Given the description of an element on the screen output the (x, y) to click on. 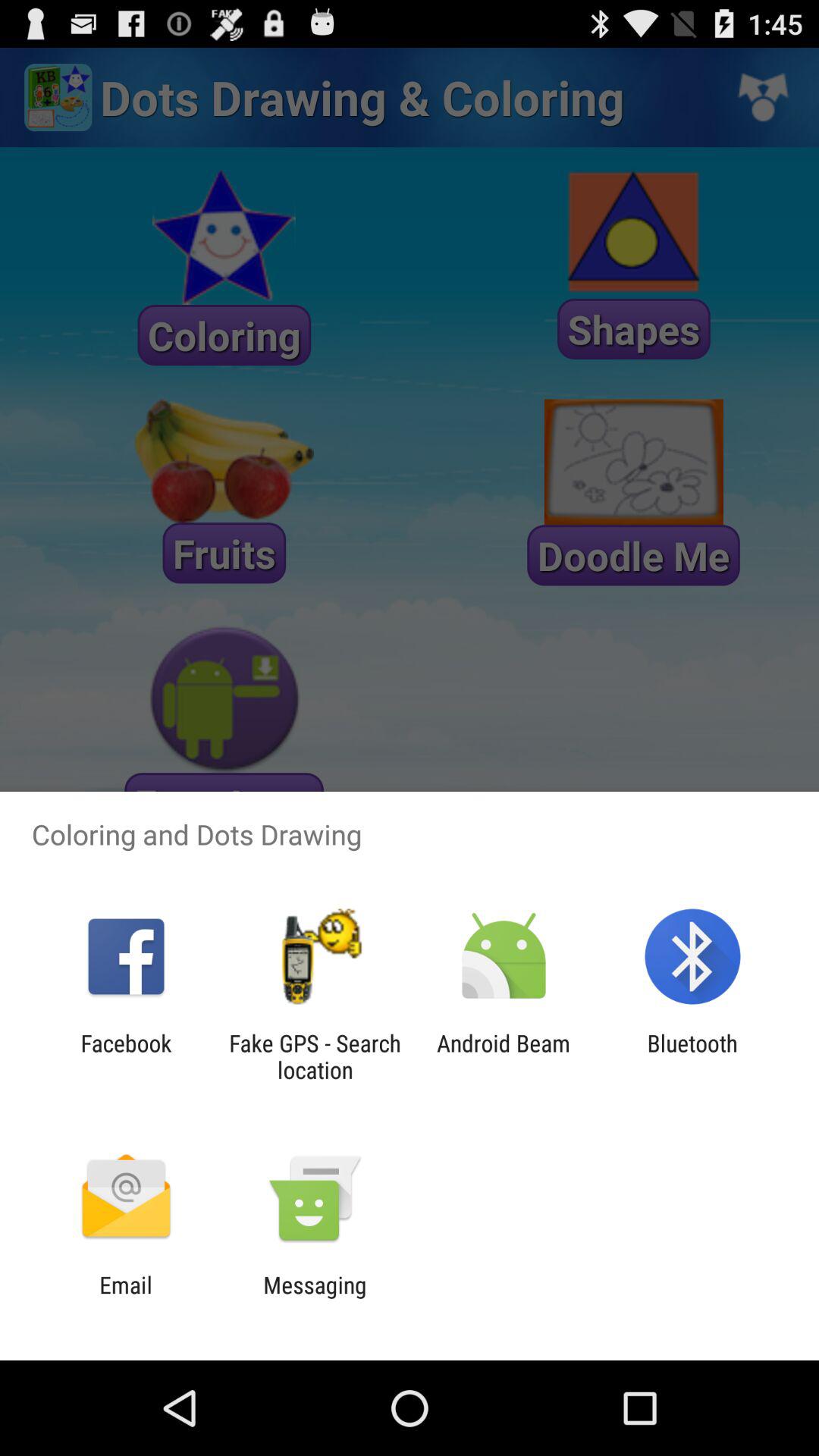
click the icon next to the fake gps search icon (503, 1056)
